Given the description of an element on the screen output the (x, y) to click on. 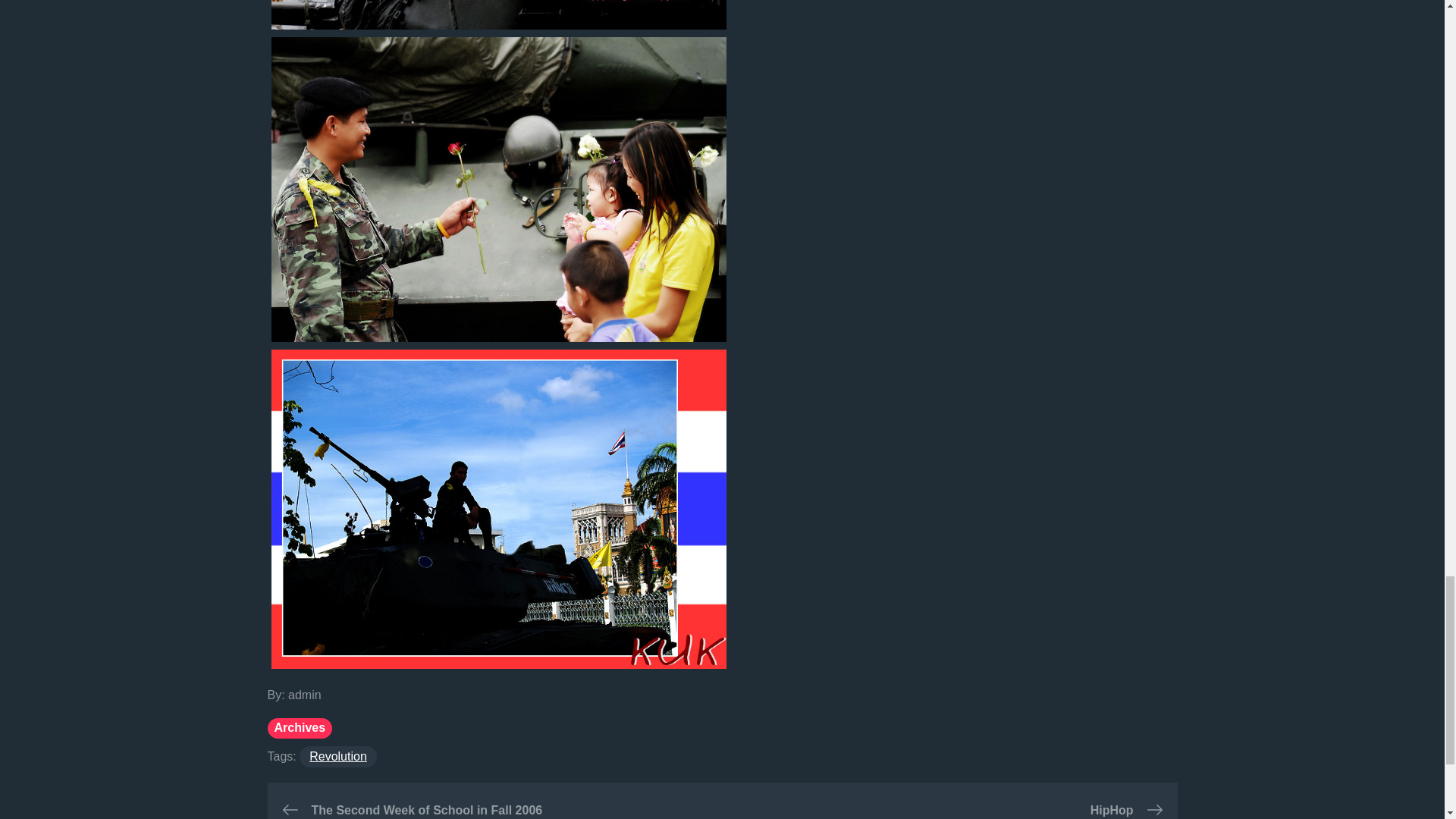
admin (304, 694)
Revolution (338, 756)
Archives (298, 728)
